Given the description of an element on the screen output the (x, y) to click on. 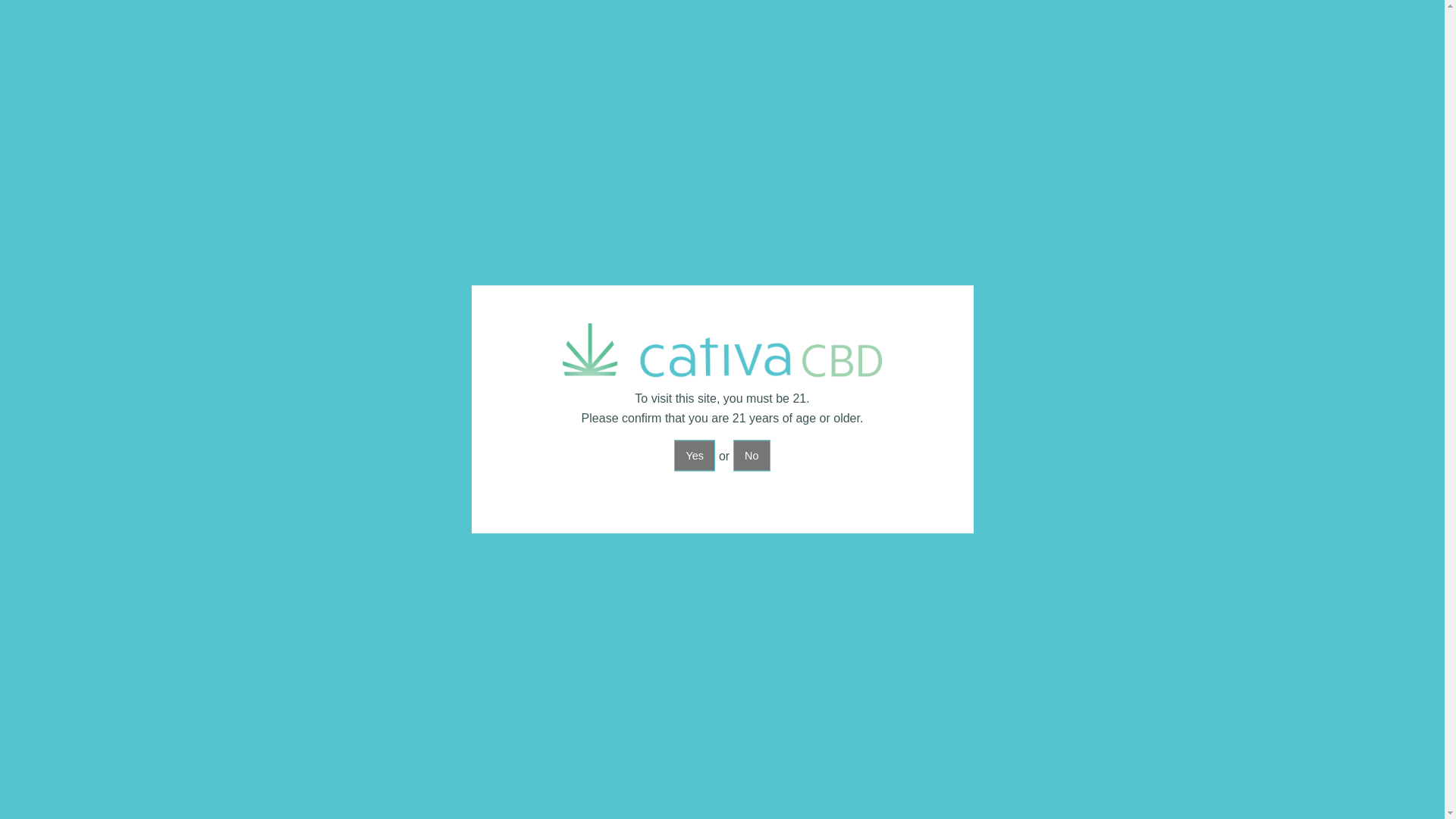
Innovation (952, 50)
Resources (1036, 50)
REGISTER (1102, 12)
Add To Cart (948, 561)
About (884, 50)
LOGIN (1040, 12)
Shop (827, 50)
Your Shopping Cart is Empty (1152, 12)
